Given the description of an element on the screen output the (x, y) to click on. 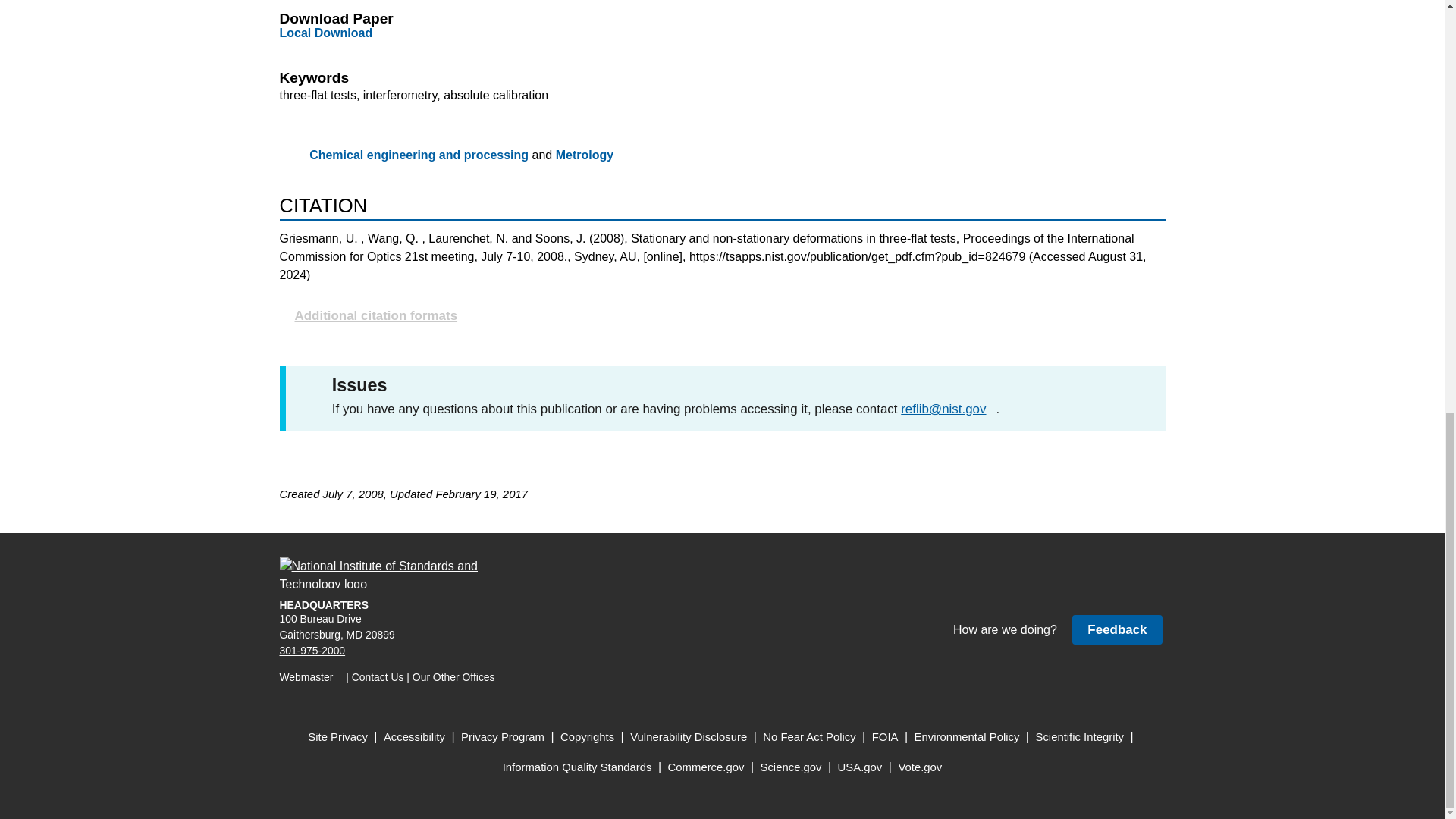
Site Privacy (337, 736)
Privacy Program (502, 736)
Copyrights (587, 736)
National Institute of Standards and Technology (387, 572)
Our Other Offices (453, 676)
Provide feedback (1116, 629)
Local Download (325, 32)
Accessibility (414, 736)
No Fear Act Policy (809, 736)
Contact Us (378, 676)
